Given the description of an element on the screen output the (x, y) to click on. 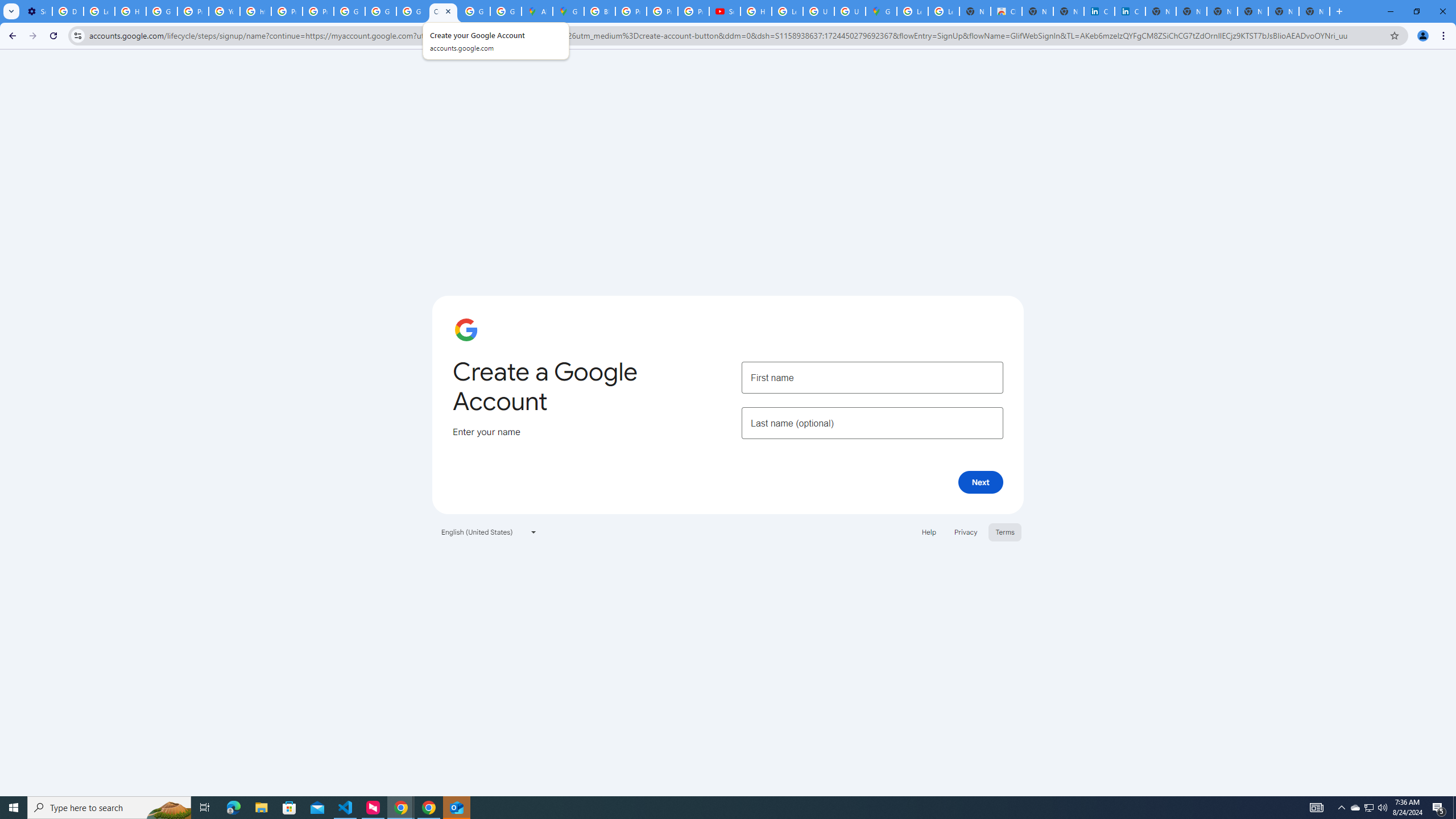
Chrome Web Store (1005, 11)
Last name (optional) (871, 422)
Privacy Help Center - Policies Help (631, 11)
New Tab (1314, 11)
Settings - Customize profile (36, 11)
Learn how to find your photos - Google Photos Help (98, 11)
Google Maps (568, 11)
